Given the description of an element on the screen output the (x, y) to click on. 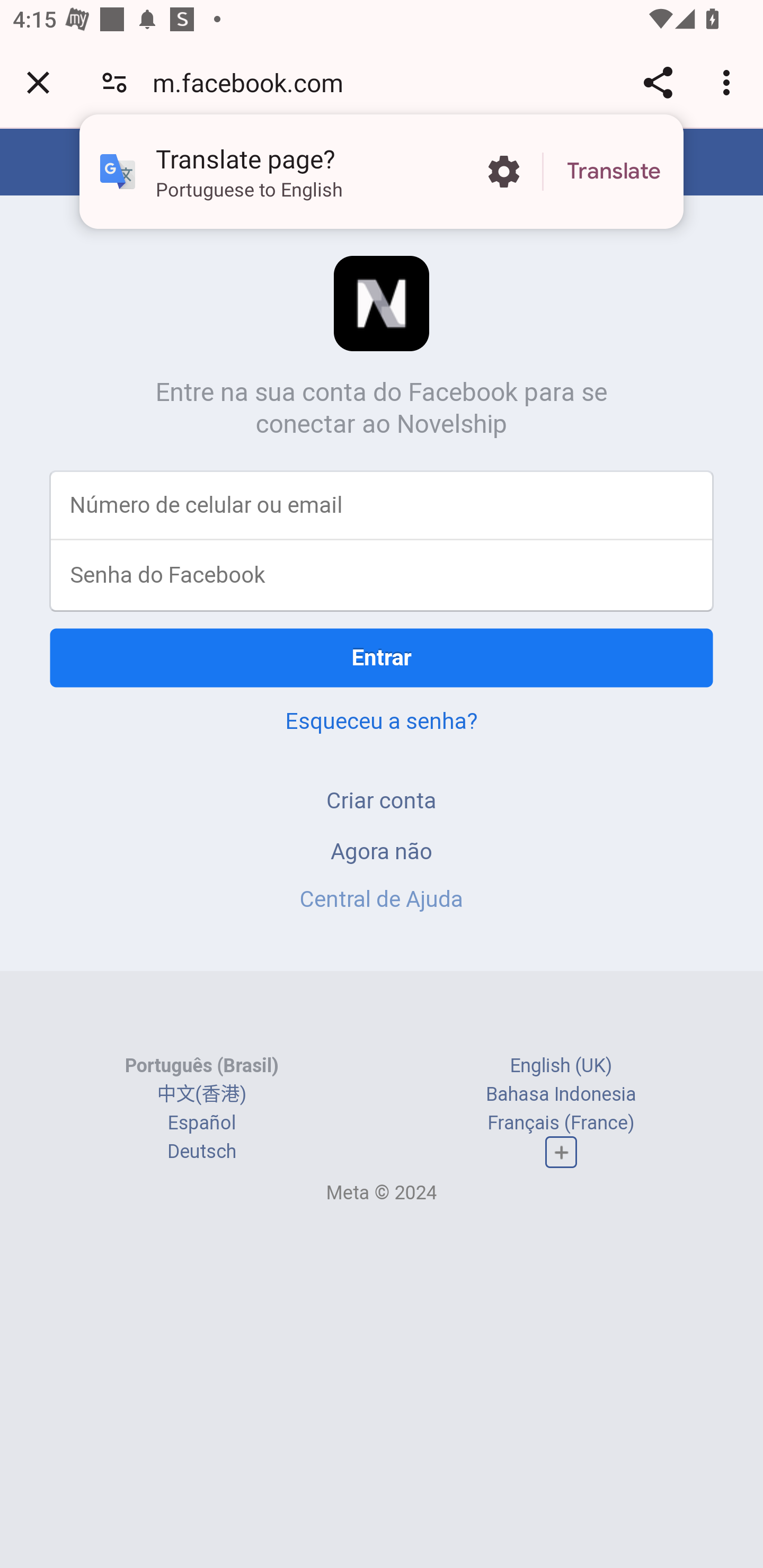
Close tab (38, 82)
Share (657, 82)
Customize and control Google Chrome (729, 82)
Connection is secure (114, 81)
m.facebook.com (254, 81)
Translate (613, 171)
More options in the Translate page? (503, 171)
Entrar (381, 657)
Esqueceu a senha? (381, 720)
Criar conta (381, 800)
Agora não (381, 850)
Central de Ajuda (381, 898)
English (UK) (560, 1065)
中文(香港) (201, 1093)
Bahasa Indonesia (560, 1093)
Español (201, 1122)
Français (France) (560, 1122)
Lista completa de idiomas (560, 1152)
Deutsch (201, 1151)
